Given the description of an element on the screen output the (x, y) to click on. 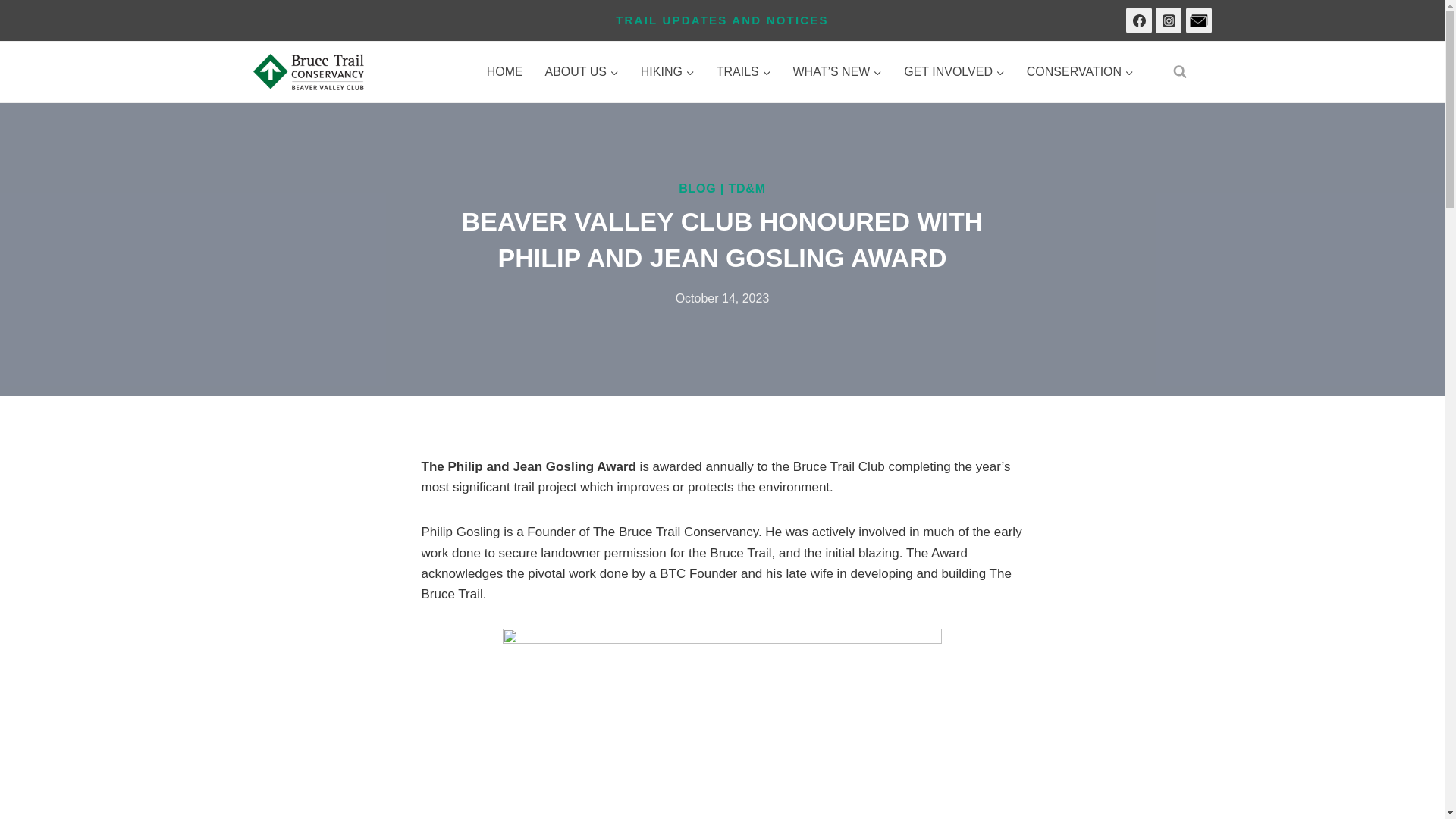
GET INVOLVED (954, 72)
ABOUT US (581, 72)
HOME (505, 72)
TRAIL UPDATES AND NOTICES (721, 19)
HIKING (666, 72)
CONSERVATION (1079, 72)
TRAILS (742, 72)
